Given the description of an element on the screen output the (x, y) to click on. 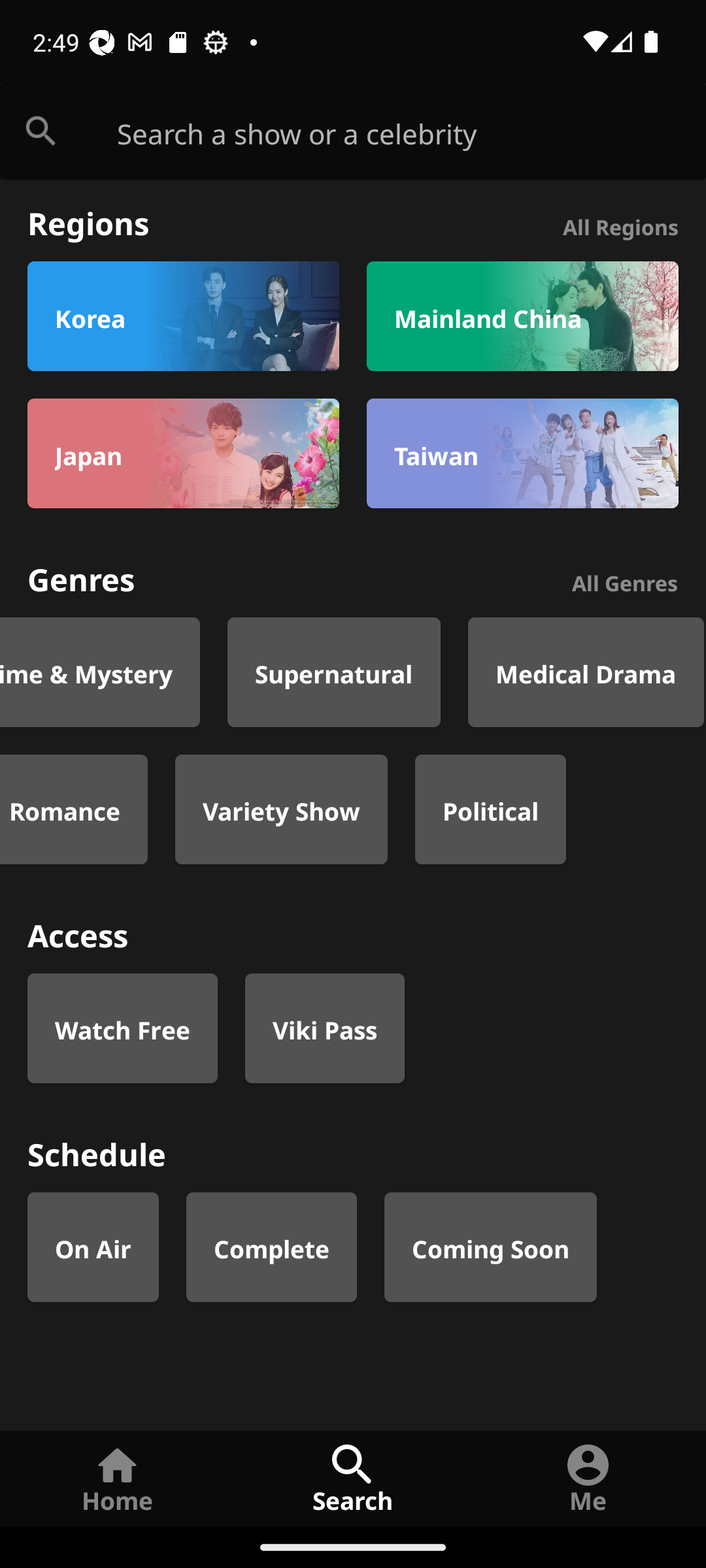
Search a show or a celebrity (411, 131)
All Regions (620, 224)
filter_region_kr Korea (183, 316)
filter_region_cn Mainland China (522, 316)
filter_region_jp Japan (183, 453)
filter_region_tw Taiwan (522, 453)
All Genres (624, 580)
filter_genre_7g Crime & Mystery (99, 672)
filter_genre_12g Supernatural (333, 672)
filter_genre_1040g Medical Drama (585, 672)
filter_genre_1068g Romance (73, 808)
filter_genre_1044g Variety Show (281, 808)
filter_genre_1066g Political (490, 808)
filter_access_watch_free Watch Free (122, 1028)
filter_access_vikipass Viki Pass (324, 1028)
filter_schedule_on_air On Air (92, 1246)
filter_schedule_complete Complete (271, 1246)
filter_schedule_coming_soon Coming Soon (490, 1246)
Home (117, 1478)
Me (588, 1478)
